Given the description of an element on the screen output the (x, y) to click on. 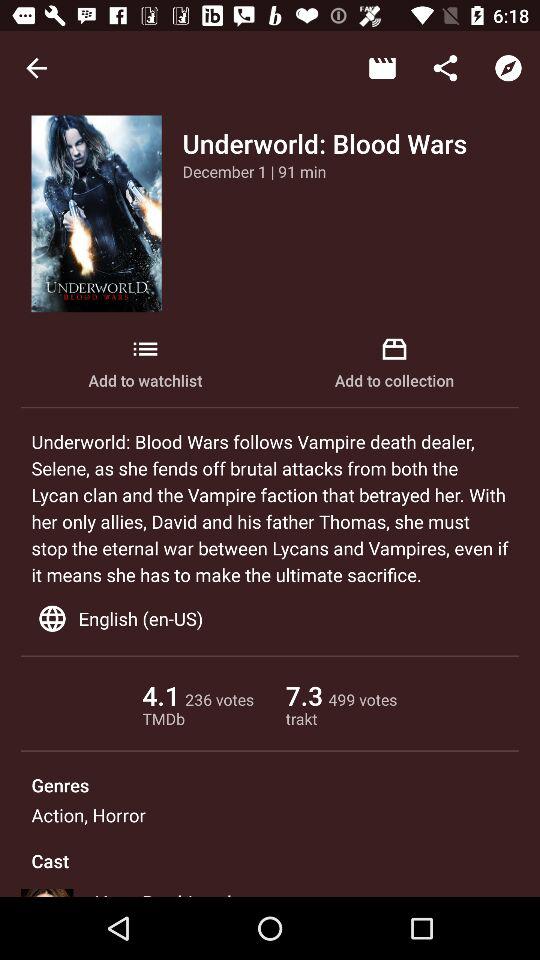
launch the item above the cast icon (88, 814)
